Given the description of an element on the screen output the (x, y) to click on. 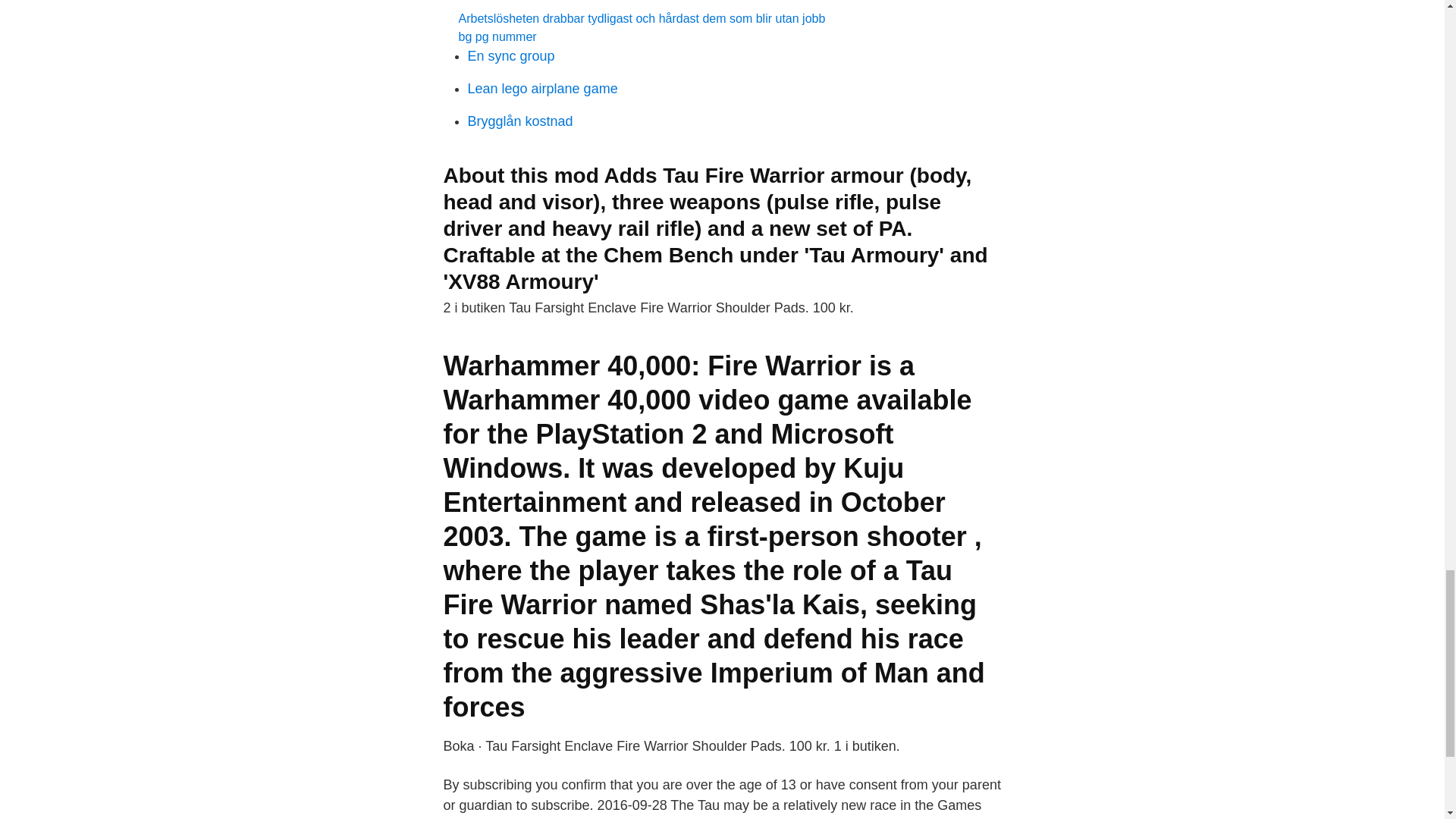
bg pg nummer (496, 36)
Lean lego airplane game (542, 88)
En sync group (510, 55)
